Given the description of an element on the screen output the (x, y) to click on. 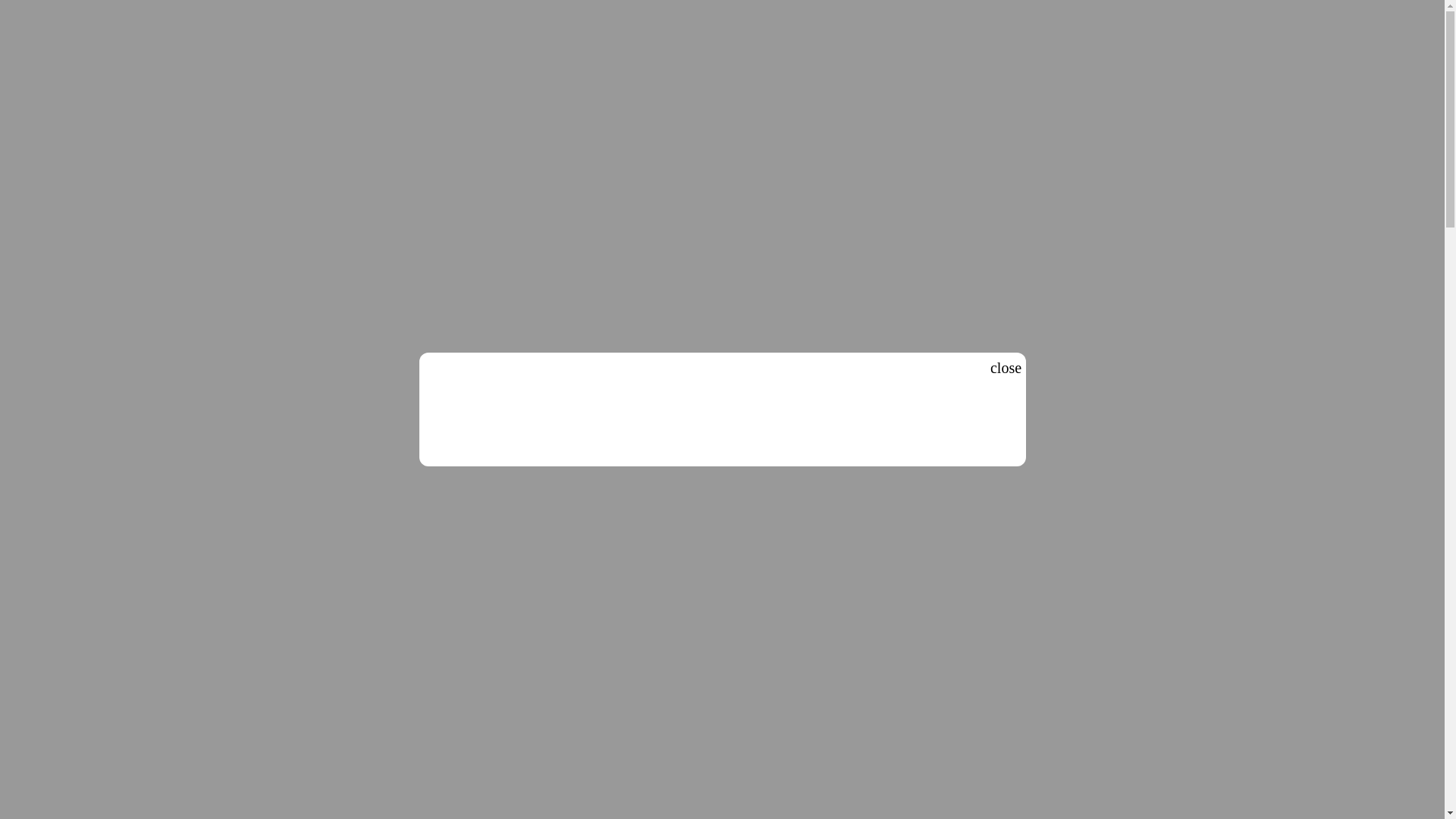
close (1005, 367)
